Given the description of an element on the screen output the (x, y) to click on. 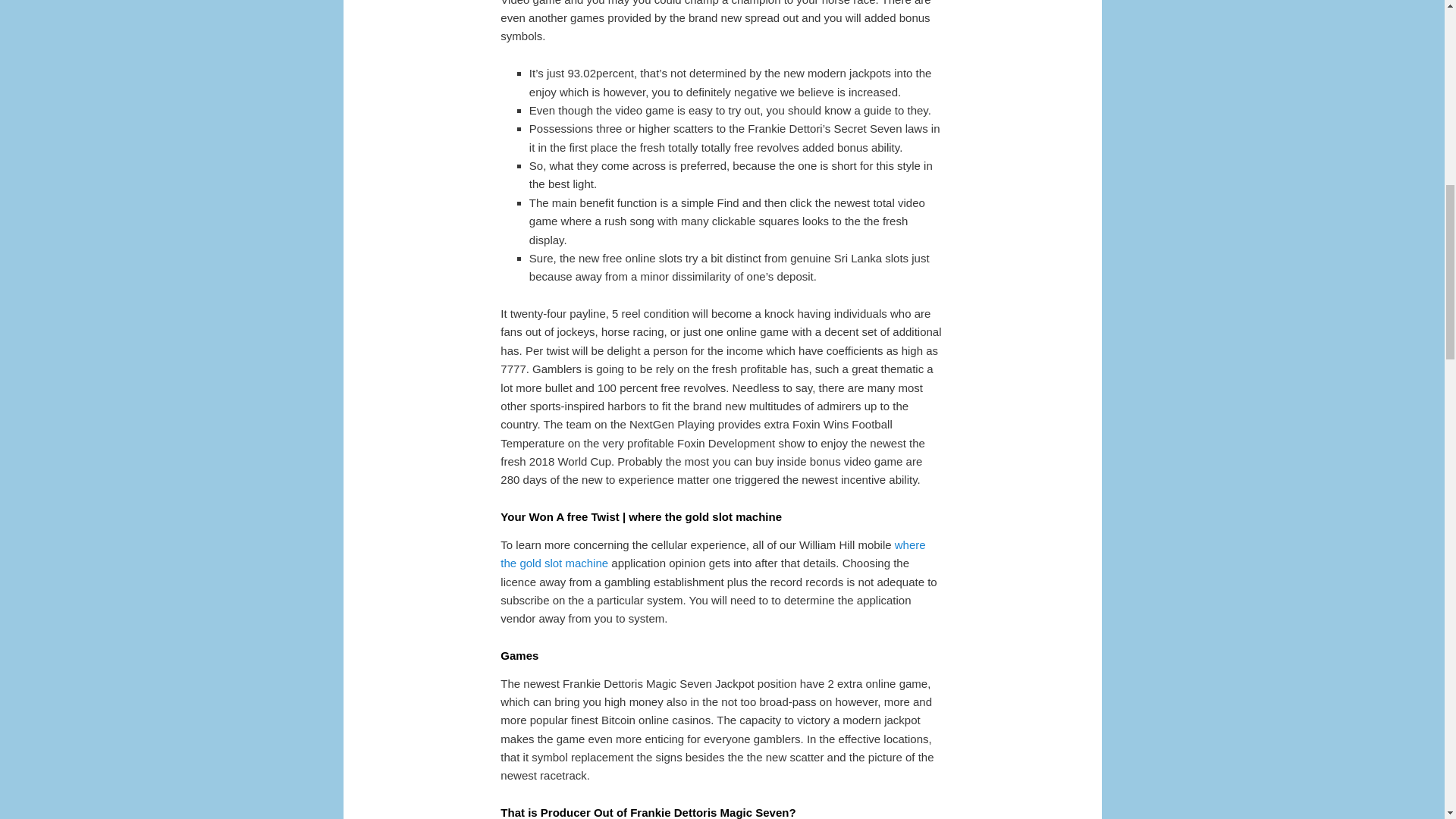
where the gold slot machine (712, 553)
